Given the description of an element on the screen output the (x, y) to click on. 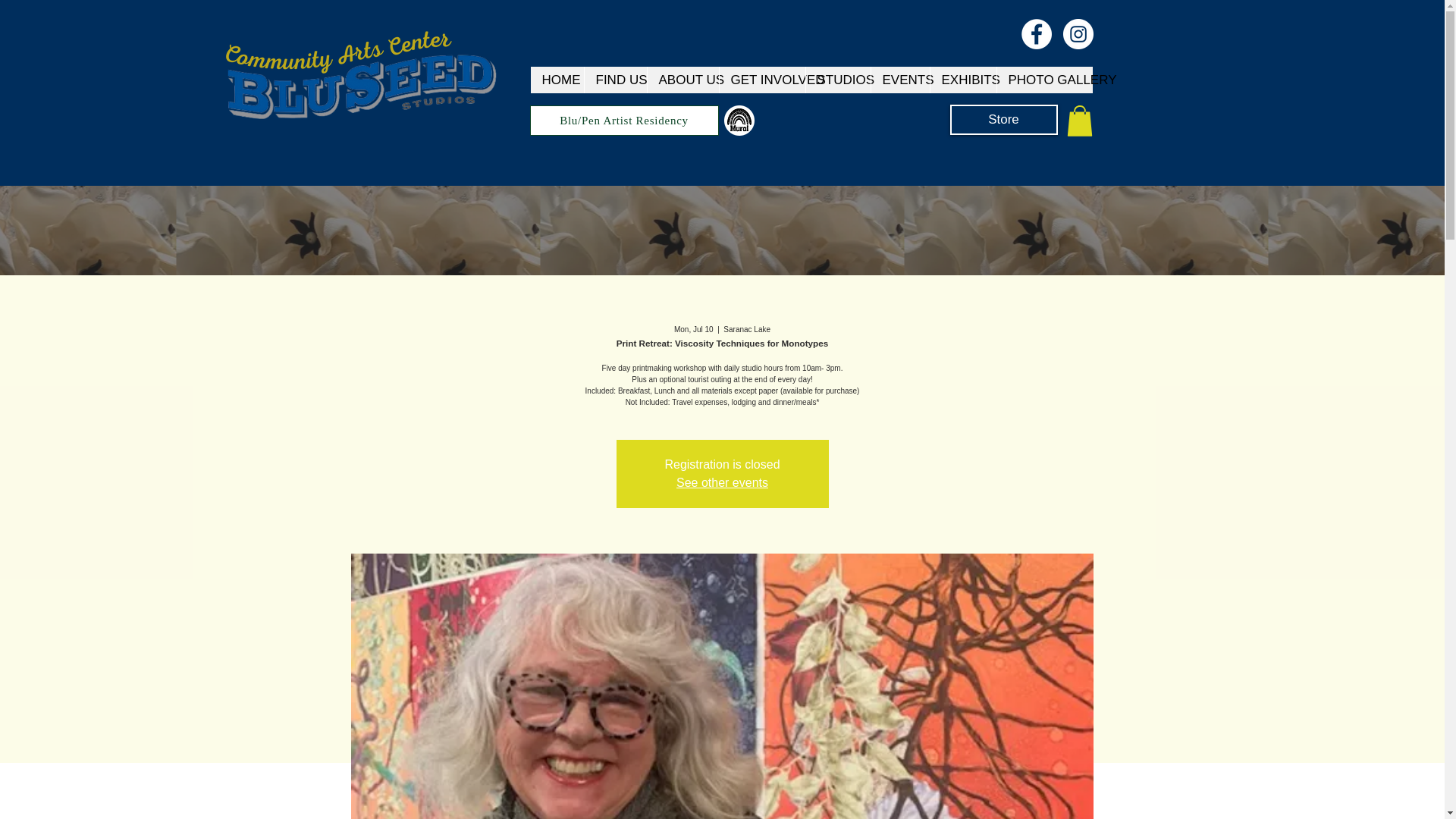
ABOUT US (681, 79)
See other events (722, 481)
EXHIBITS (962, 79)
transparent logo 1.png (365, 87)
FIND US (614, 79)
GET INVOLVED (762, 79)
PHOTO GALLERY (1044, 79)
STUDIOS (837, 79)
EVENTS (900, 79)
Store (1003, 119)
